Given the description of an element on the screen output the (x, y) to click on. 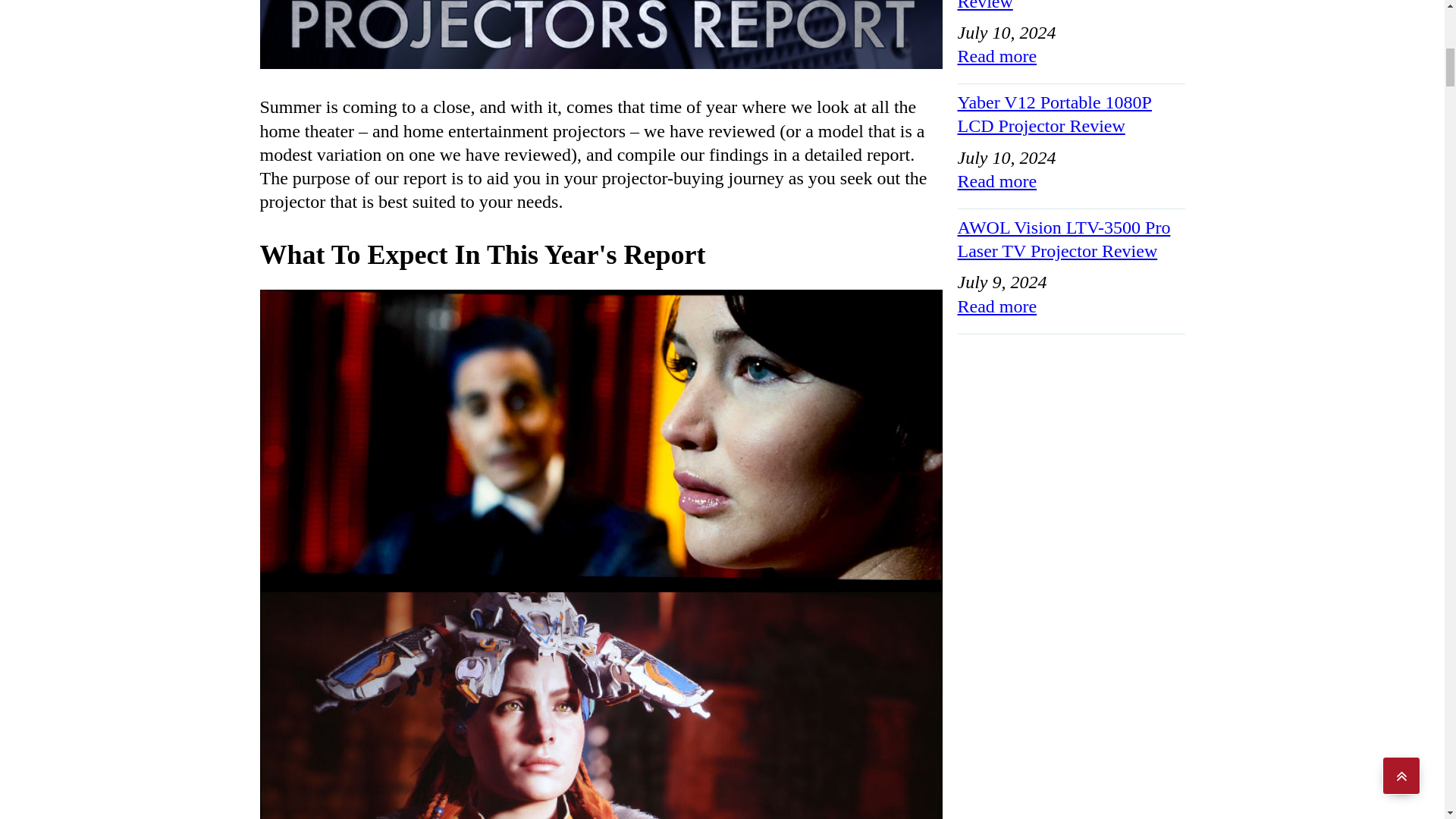
Home-Theater-Report-2019-Featured-Image (600, 34)
